Given the description of an element on the screen output the (x, y) to click on. 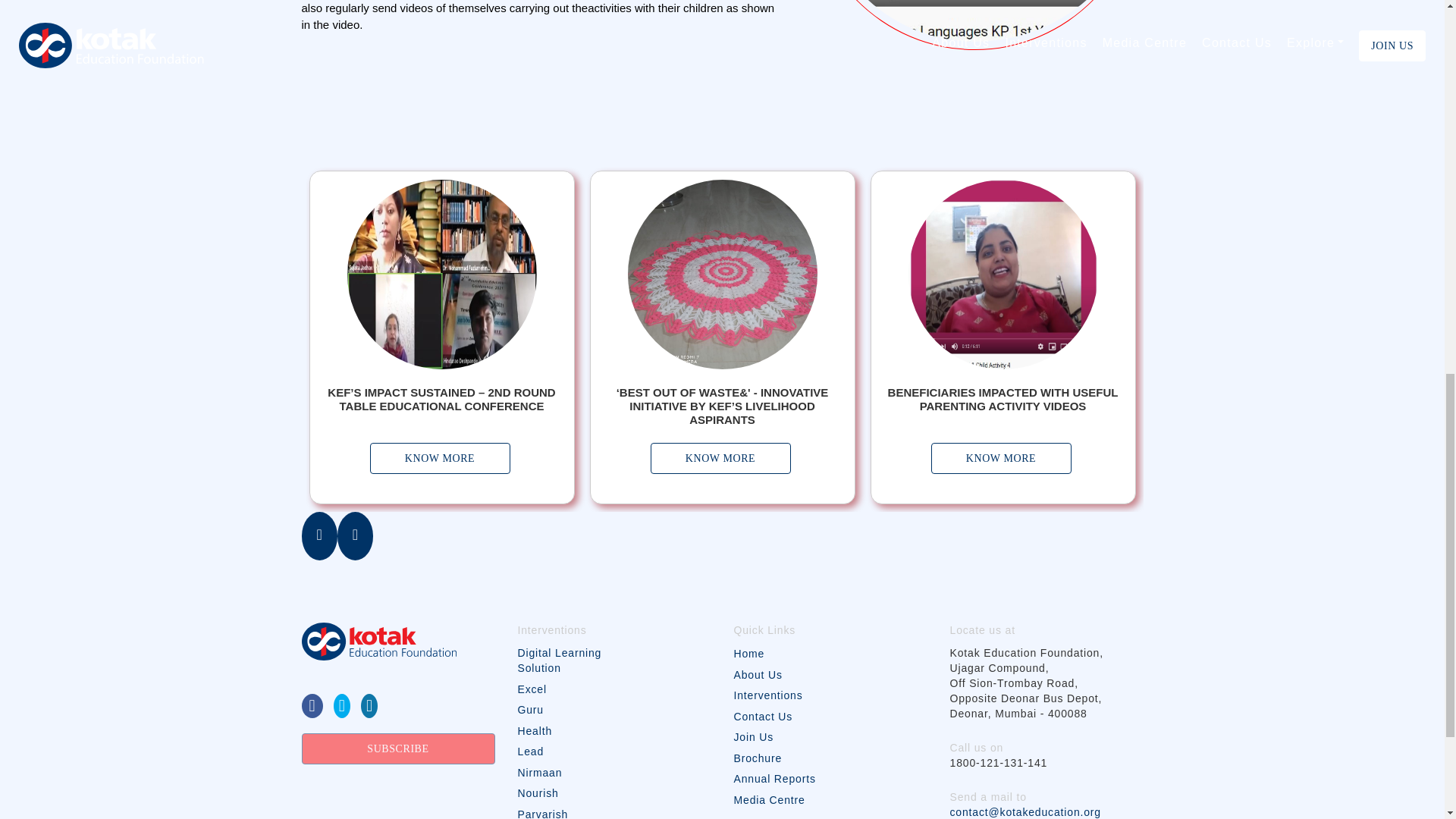
Digital Learning Solution (562, 660)
KNOW MORE (1001, 458)
KNOW MORE (440, 458)
SUBSCRIBE (398, 748)
KNOW MORE (720, 458)
BENEFICIARIES IMPACTED WITH USEFUL PARENTING ACTIVITY VIDEOS (1002, 399)
